Given the description of an element on the screen output the (x, y) to click on. 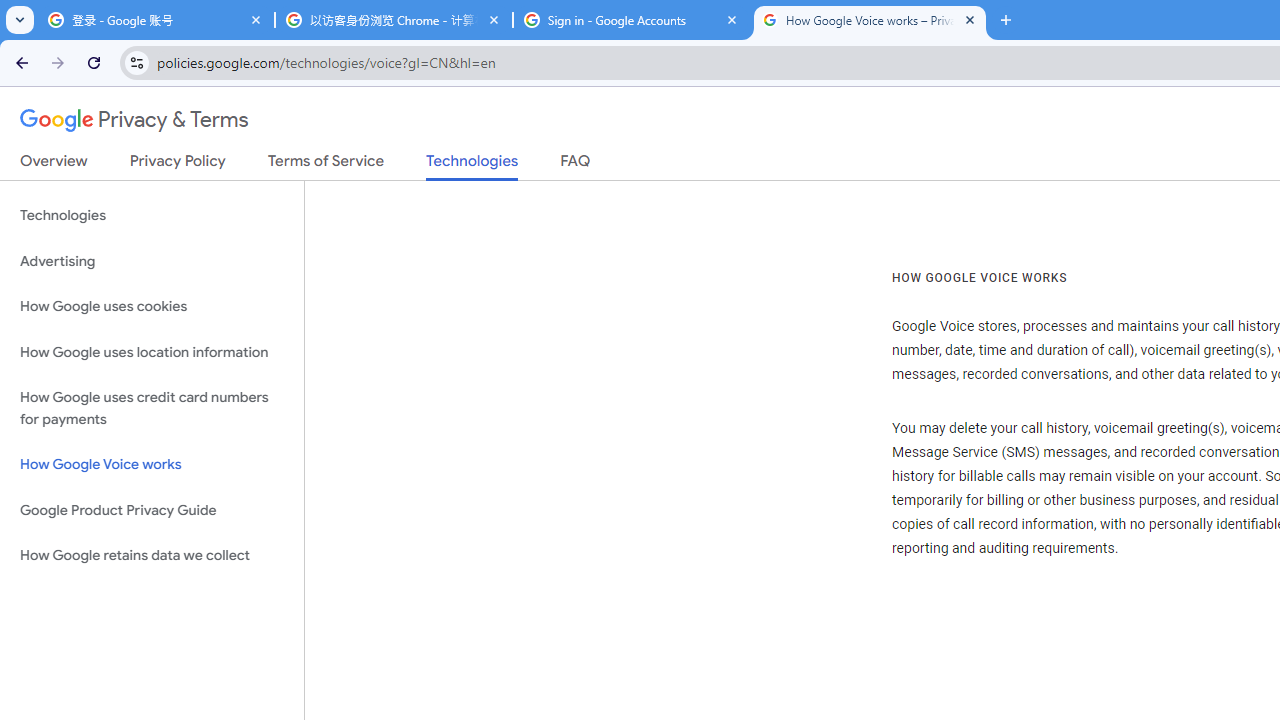
Advertising (152, 261)
How Google uses cookies (152, 306)
Google Product Privacy Guide (152, 510)
